Given the description of an element on the screen output the (x, y) to click on. 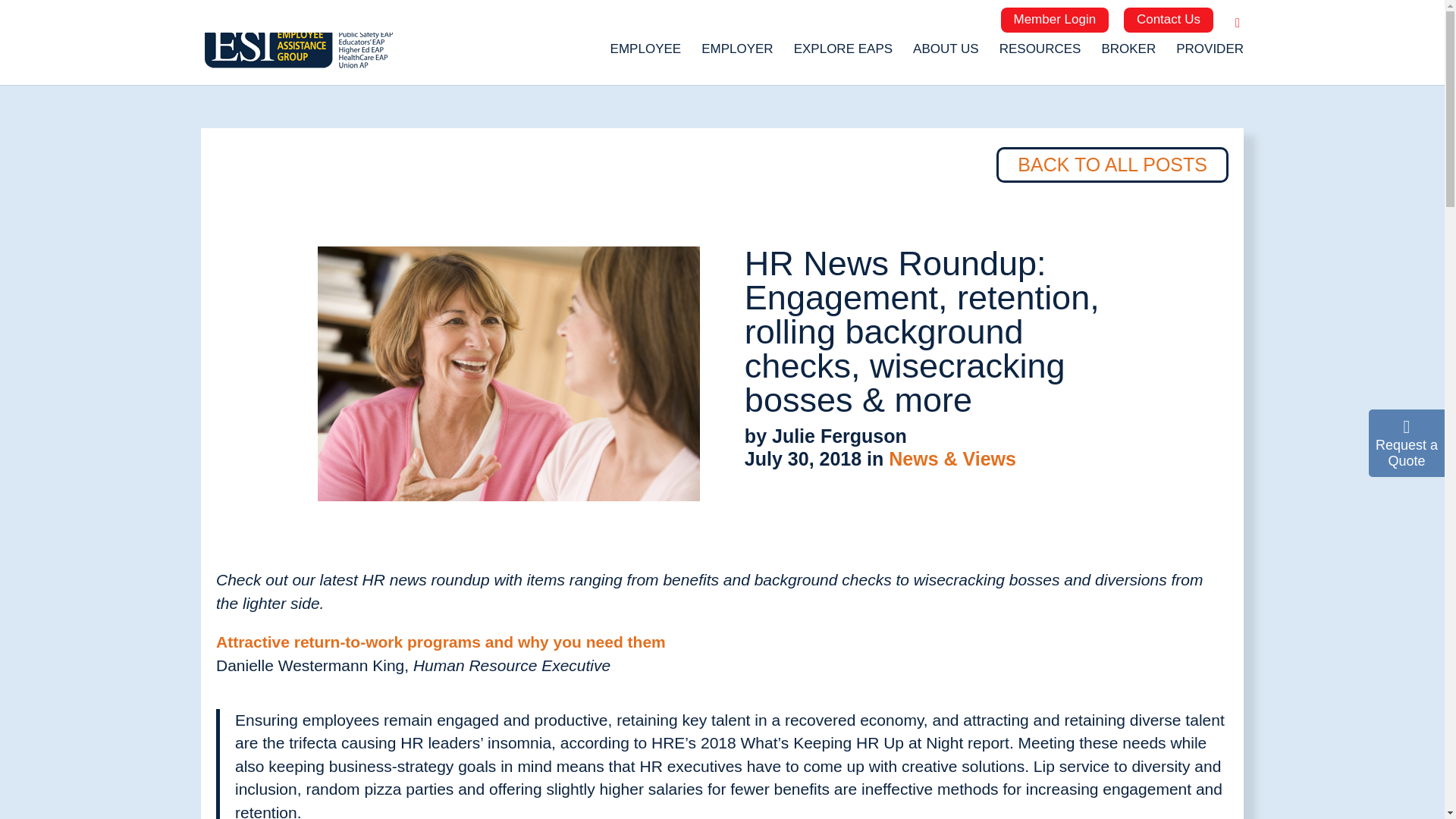
EXPLORE EAPS (842, 55)
Contact Us (1168, 19)
Attractive return-to-work programs and why you need them (440, 641)
BACK TO ALL POSTS (1111, 164)
EMPLOYEE (645, 55)
BROKER (1128, 55)
ABOUT US (945, 55)
EMPLOYER (737, 55)
Member Login (1055, 19)
RESOURCES (1039, 55)
